Given the description of an element on the screen output the (x, y) to click on. 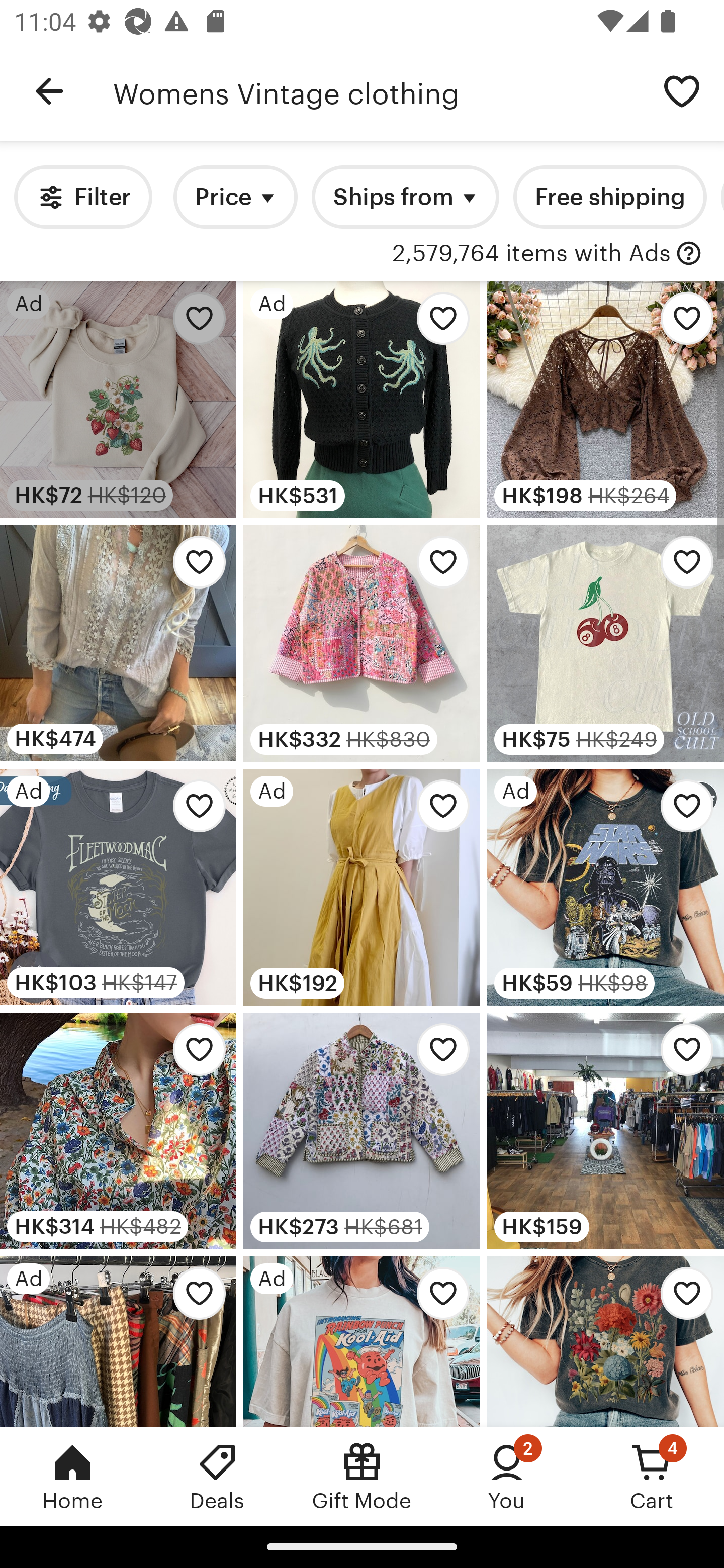
Navigate up (49, 91)
Save search (681, 90)
Womens Vintage clothing (375, 91)
Filter (82, 197)
Price (235, 197)
Ships from (405, 197)
Free shipping (609, 197)
2,579,764 items with Ads (531, 253)
with Ads (688, 253)
Add Vintage Clothing to favorites (681, 1054)
Deals (216, 1475)
Gift Mode (361, 1475)
You, 2 new notifications You (506, 1475)
Cart, 4 new notifications Cart (651, 1475)
